Given the description of an element on the screen output the (x, y) to click on. 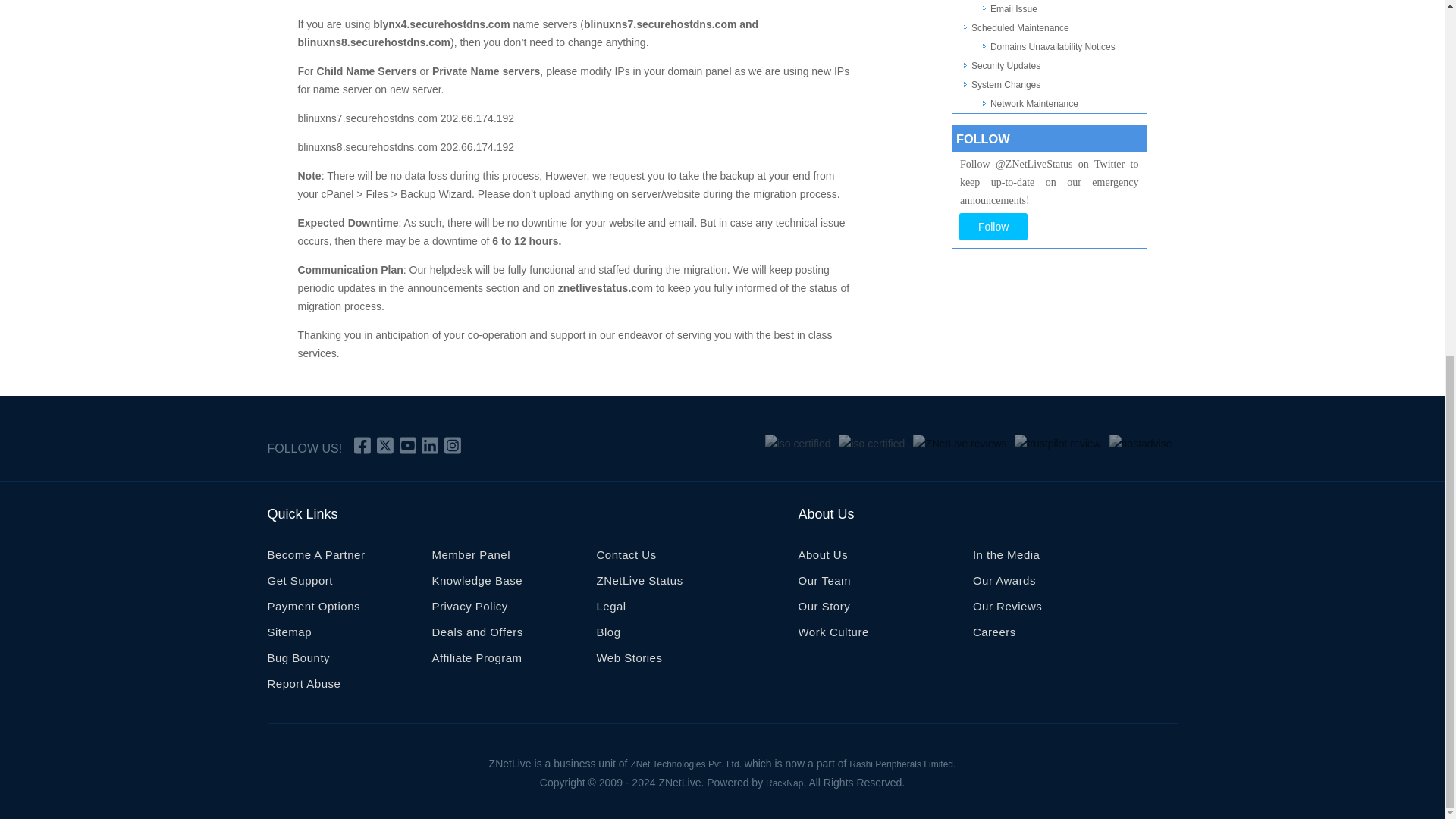
Become A Partner (315, 558)
Report Abuse (303, 687)
Follow (993, 226)
Legal (610, 610)
trustpilot review (1057, 443)
ZNetLive Status (638, 584)
iso certified (798, 443)
Knowledge Base (476, 584)
ZNetLive reviews (959, 443)
Blog (607, 636)
